Given the description of an element on the screen output the (x, y) to click on. 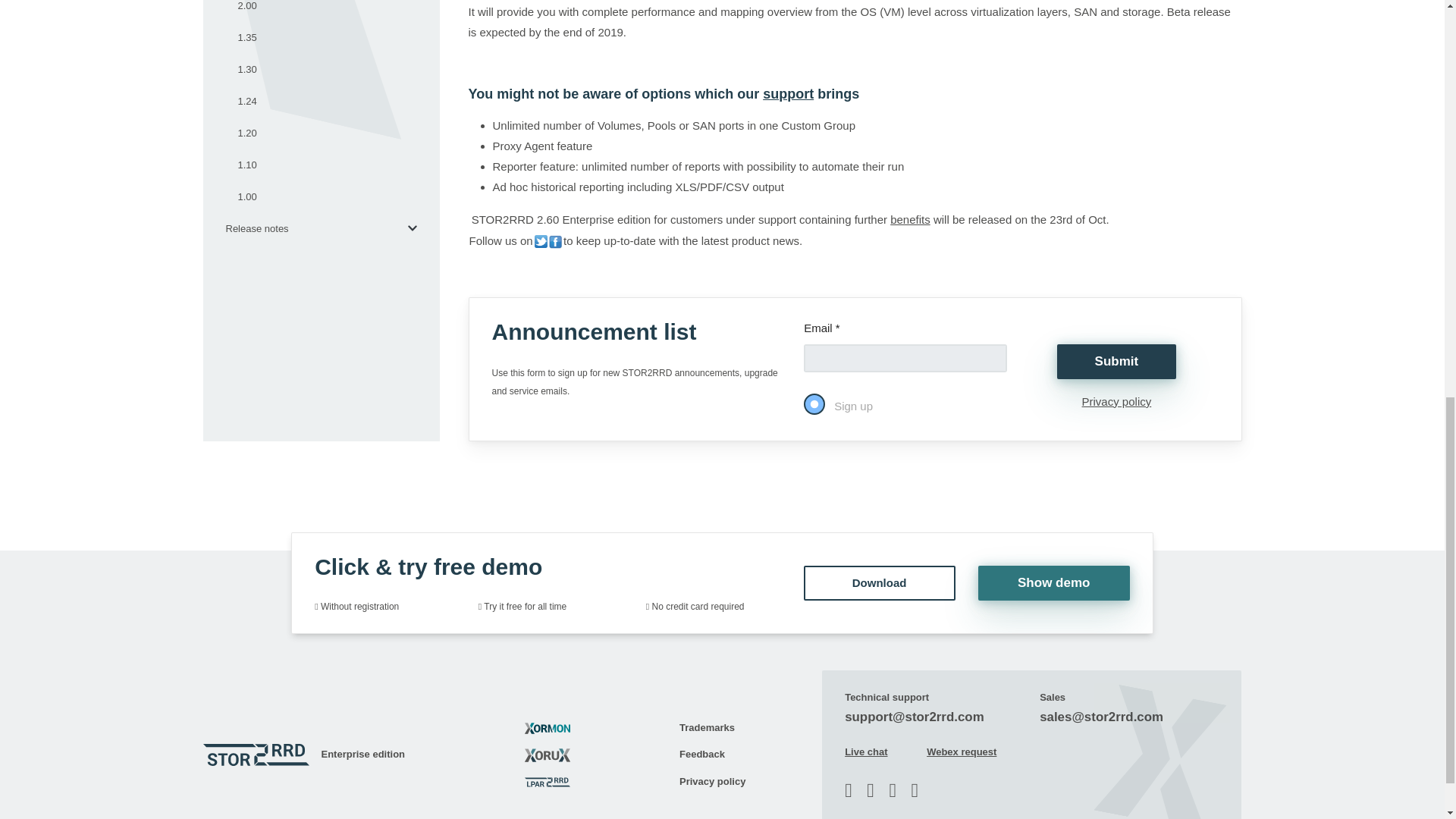
STOR2RRD on Twitter (540, 240)
STOR2RRD on Facebook (555, 240)
